Given the description of an element on the screen output the (x, y) to click on. 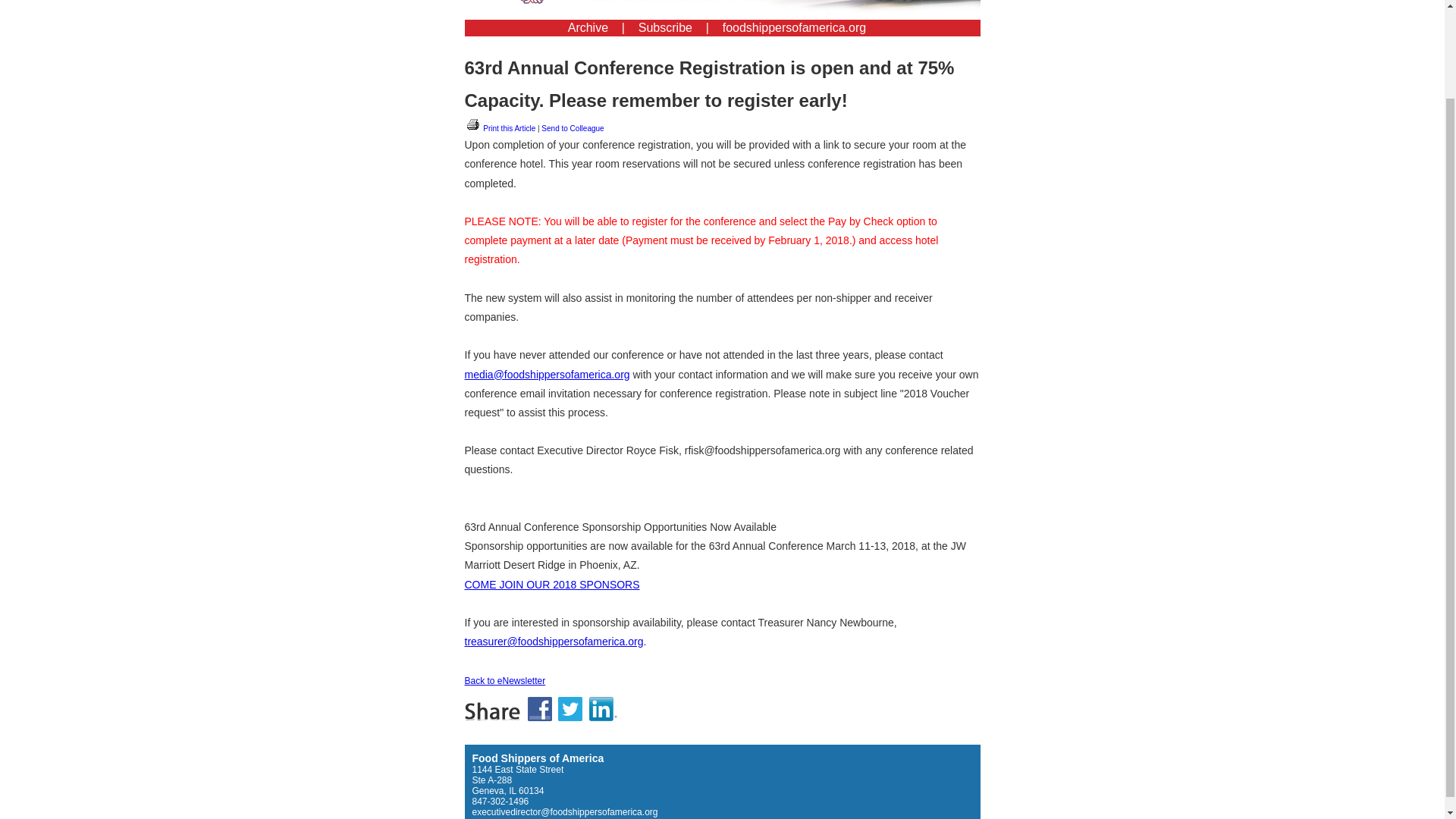
Subscribe (666, 27)
COME JOIN OUR 2018 SPONSORS (551, 584)
Print this Article (499, 128)
Back to eNewsletter (504, 680)
Archive (587, 27)
Send to Colleague (572, 128)
Archive (587, 27)
foodshippersofamerica.org (794, 27)
Subscribe (666, 27)
foodshippersofamerica.org (794, 27)
